Given the description of an element on the screen output the (x, y) to click on. 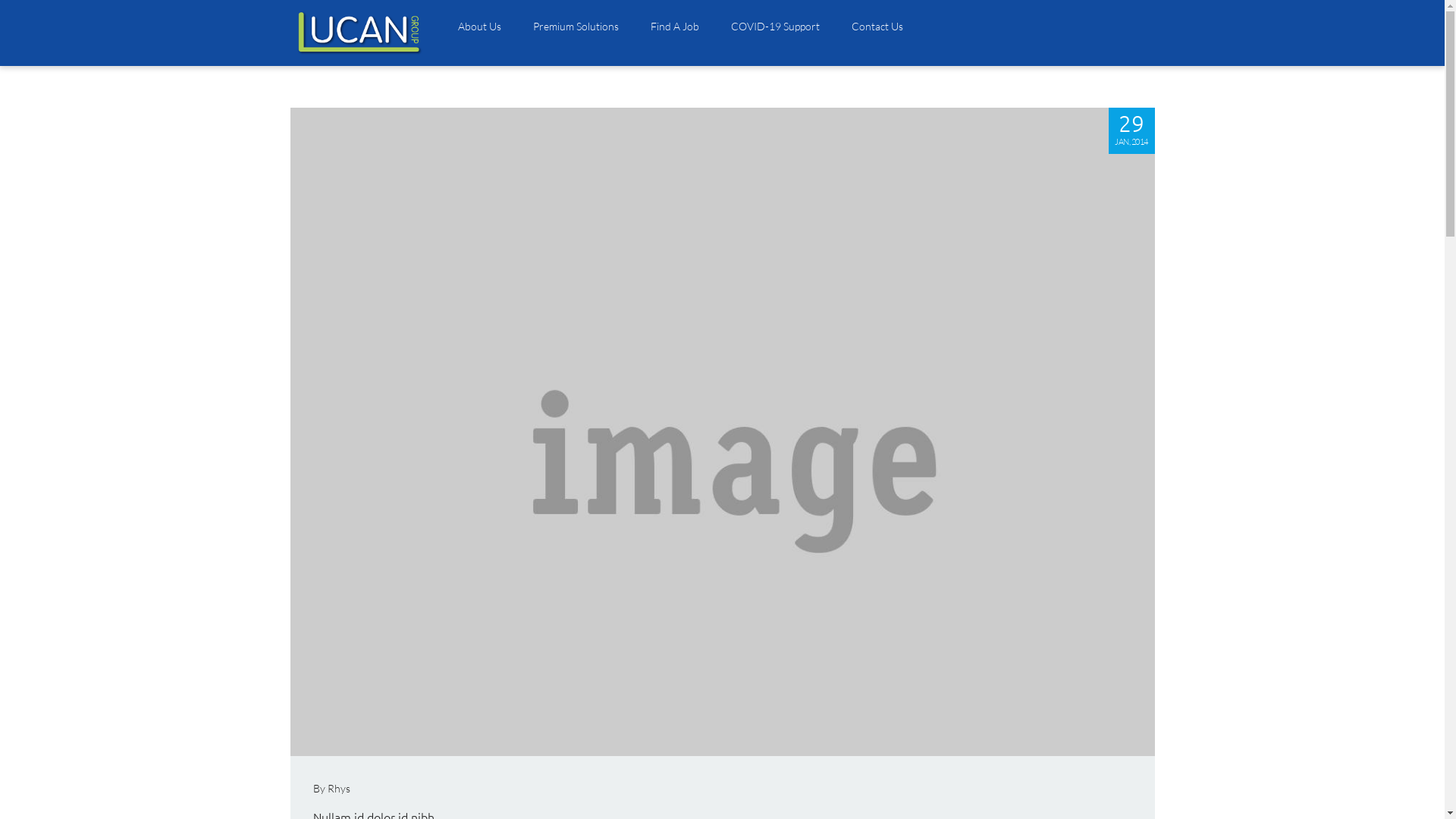
About Us Element type: text (478, 26)
Contact Us Element type: text (869, 26)
COVID-19 Support Element type: text (774, 26)
Nullam id dolor id nibh Element type: hover (721, 431)
Premium Solutions Element type: text (575, 26)
Find A Job Element type: text (673, 26)
